Given the description of an element on the screen output the (x, y) to click on. 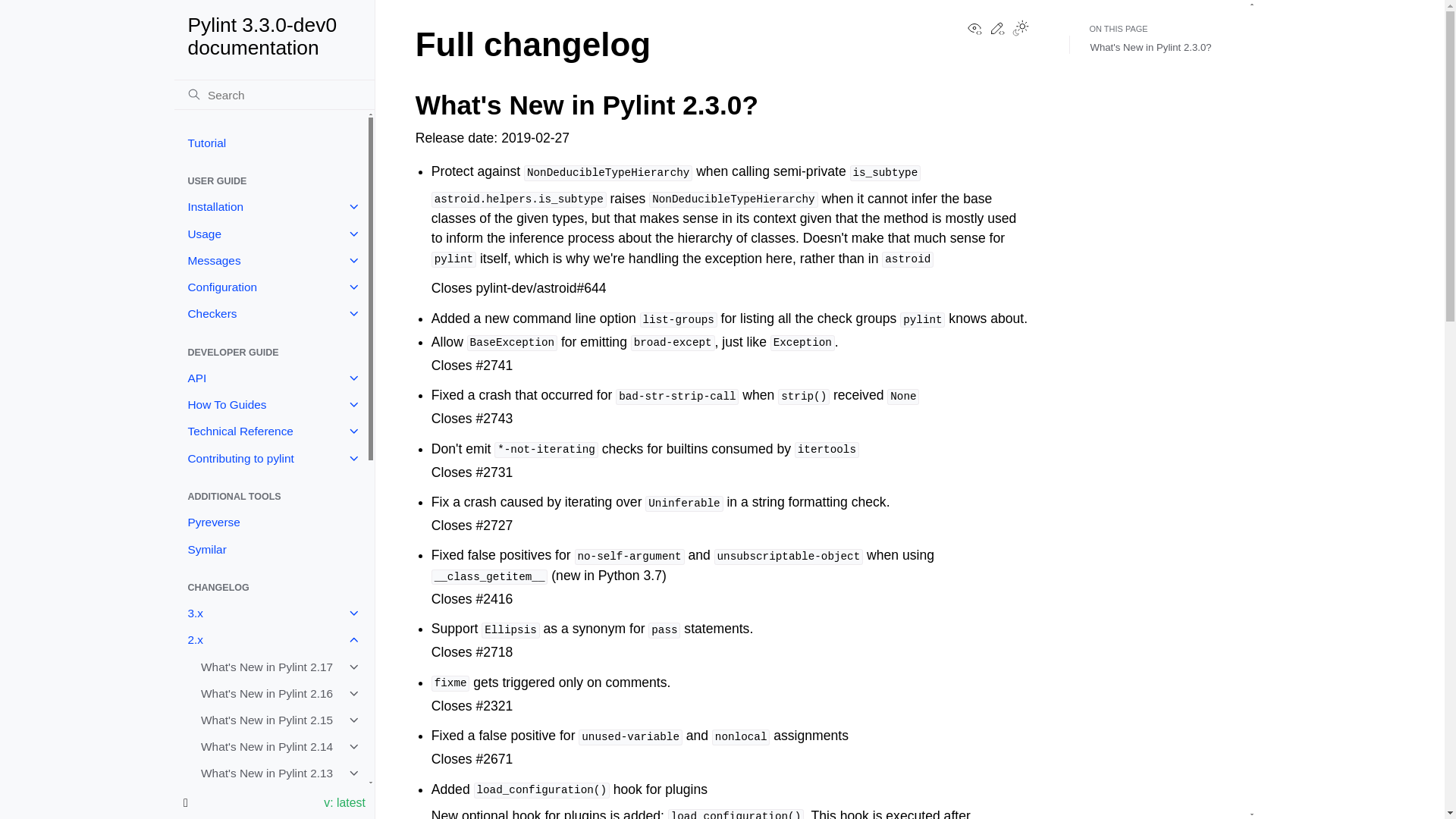
Installation (270, 207)
View this page (974, 31)
Edit this page (997, 31)
Pylint 3.3.0-dev0 documentation (270, 260)
Tutorial (274, 36)
Usage (270, 142)
